Given the description of an element on the screen output the (x, y) to click on. 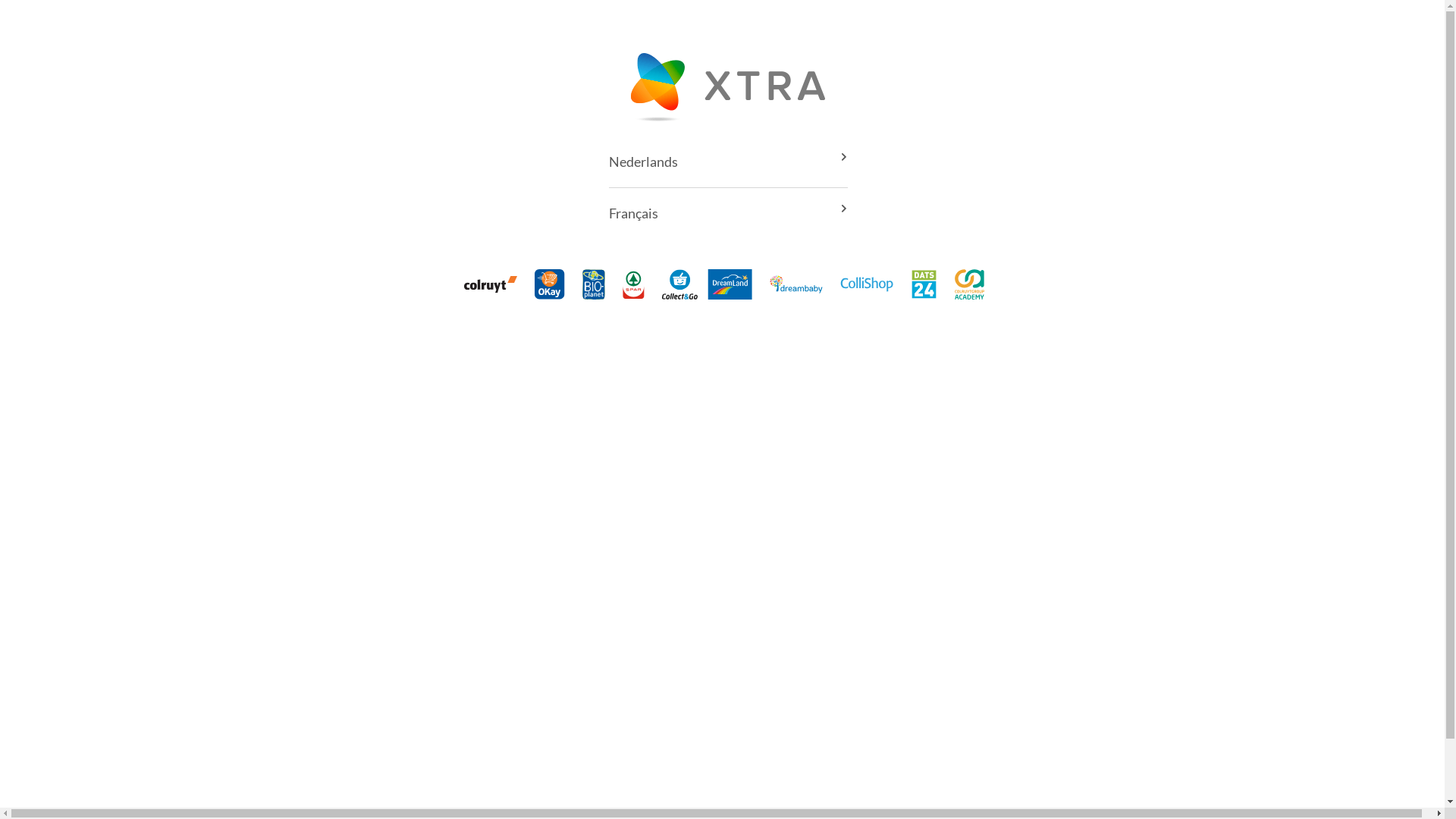
Nederlands Element type: text (727, 161)
